Given the description of an element on the screen output the (x, y) to click on. 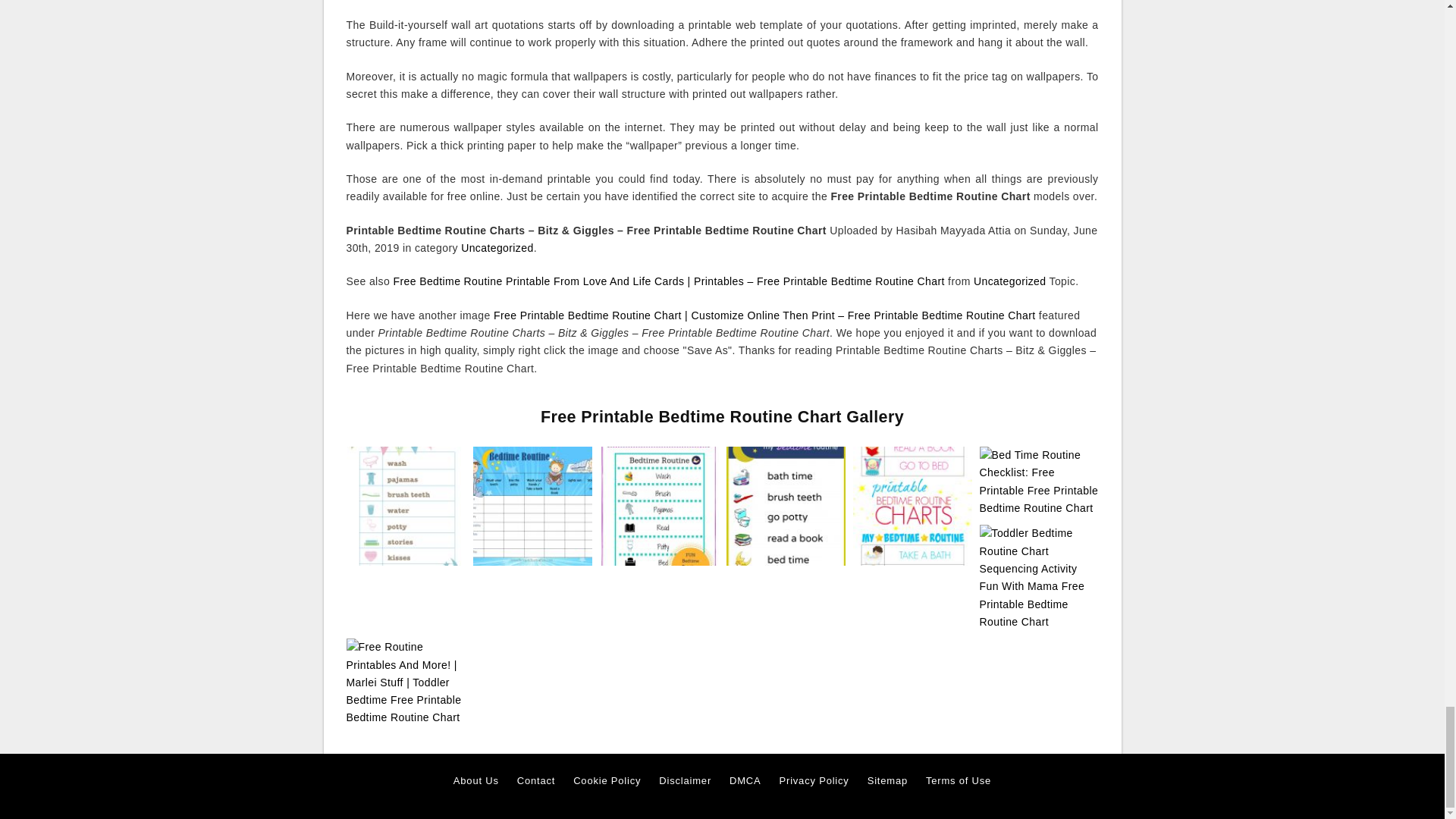
Cookie Policy (606, 781)
DMCA (744, 781)
Contact (535, 781)
Uncategorized (1009, 281)
Sitemap (887, 781)
Uncategorized (496, 247)
Privacy Policy (813, 781)
About Us (475, 781)
